Given the description of an element on the screen output the (x, y) to click on. 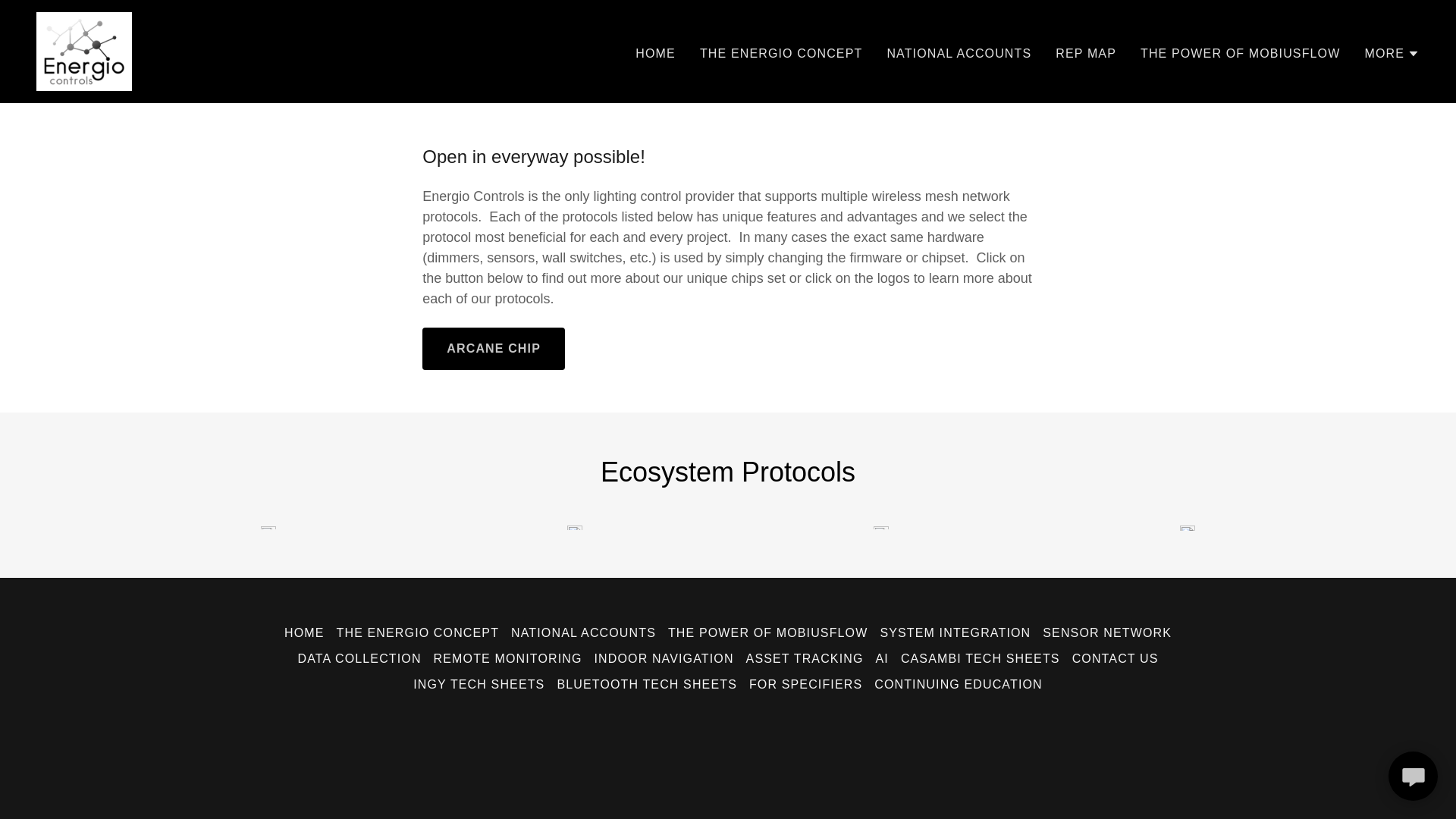
HOME (654, 52)
MORE (1391, 53)
REP MAP (1086, 52)
THE ENERGIO CONCEPT (781, 52)
NATIONAL ACCOUNTS (958, 52)
THE POWER OF MOBIUSFLOW (1239, 52)
